Given the description of an element on the screen output the (x, y) to click on. 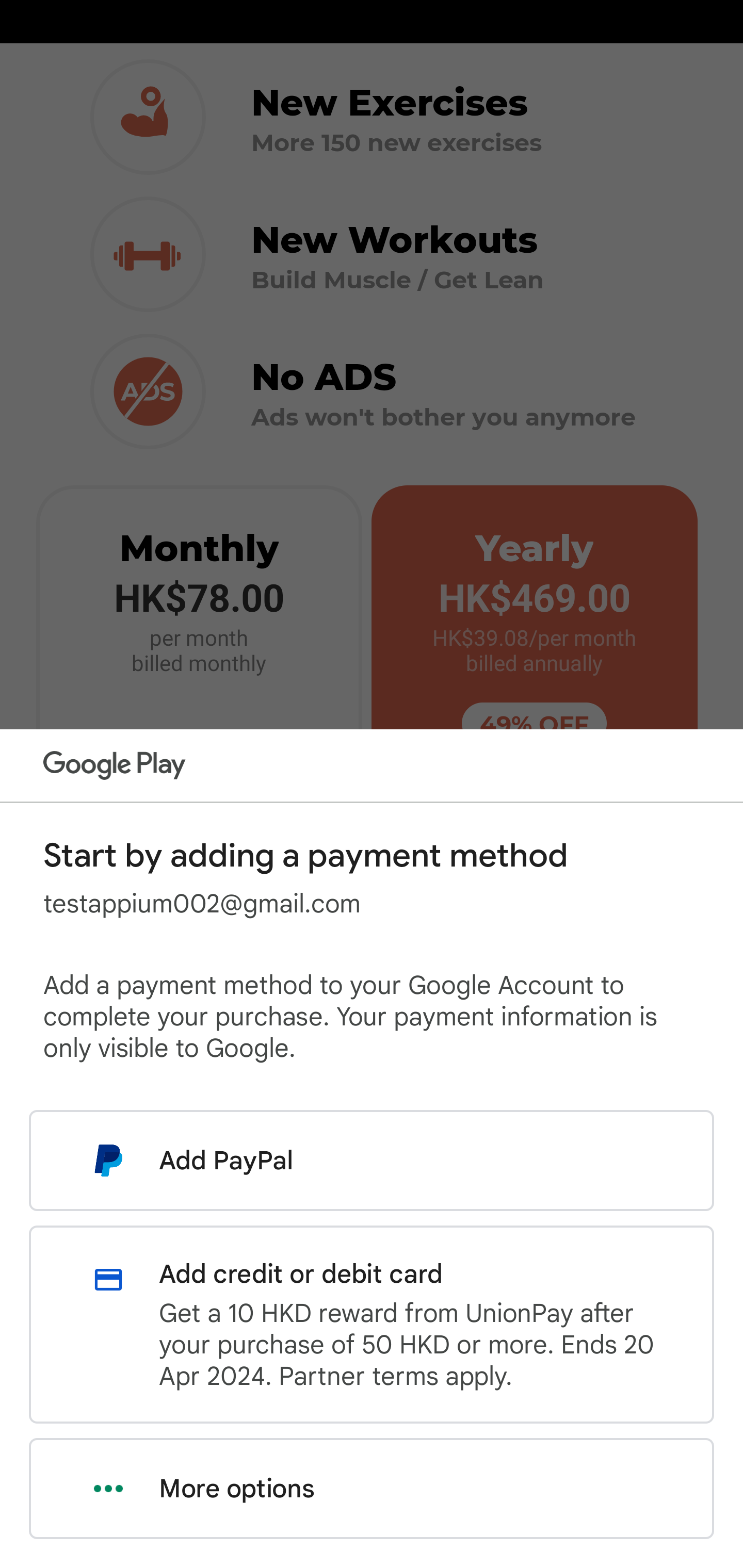
Add PayPal (371, 1160)
More options (371, 1488)
